Given the description of an element on the screen output the (x, y) to click on. 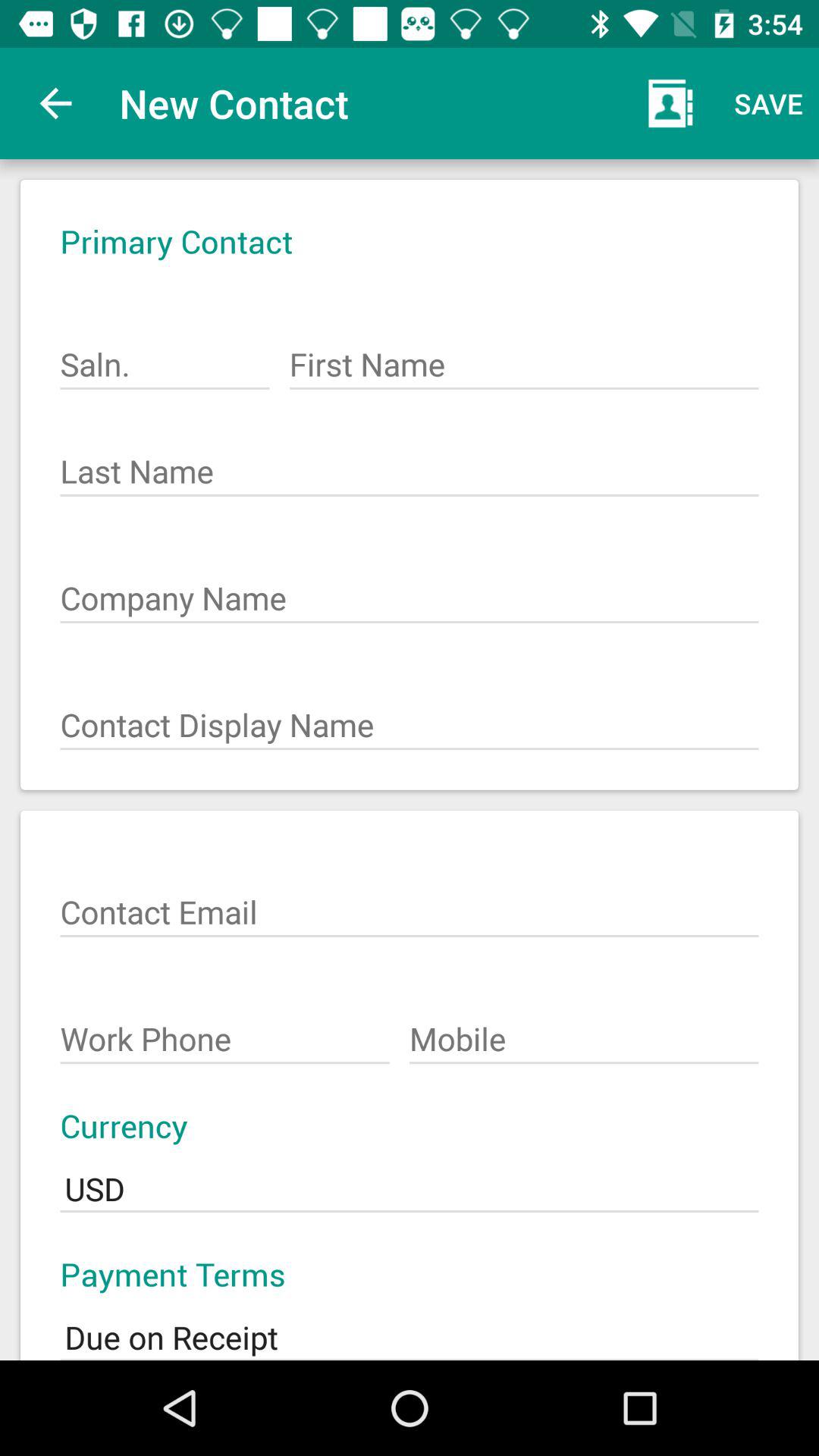
press the item above the currency (583, 1031)
